Given the description of an element on the screen output the (x, y) to click on. 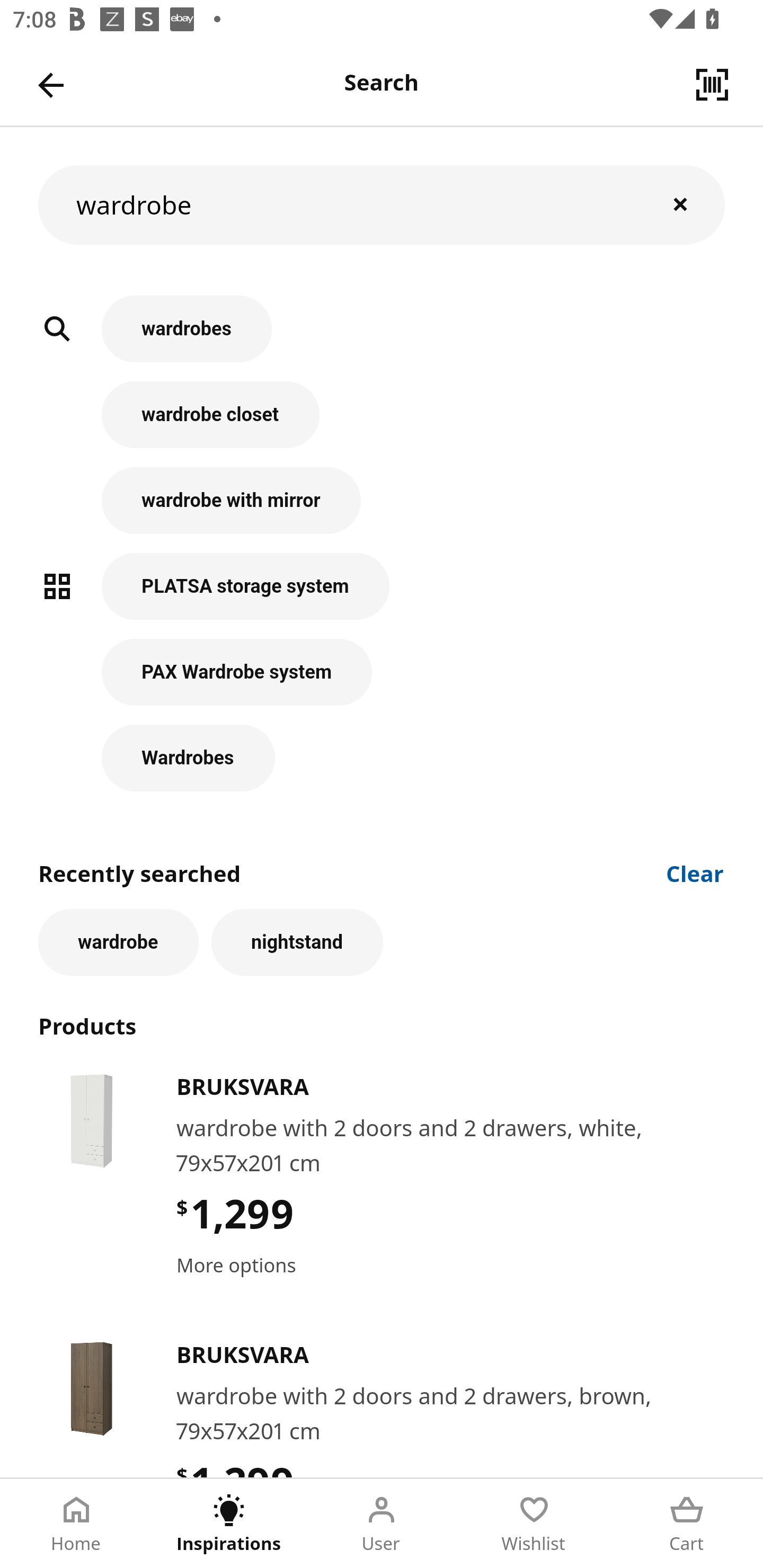
wardrobe (381, 204)
wardrobes (381, 338)
wardrobe closet (381, 424)
wardrobe with mirror (381, 510)
PLATSA storage system (381, 595)
PAX Wardrobe system (381, 681)
Wardrobes (381, 757)
Clear (695, 872)
wardrobe (118, 942)
nightstand (297, 942)
Home
Tab 1 of 5 (76, 1522)
Inspirations
Tab 2 of 5 (228, 1522)
User
Tab 3 of 5 (381, 1522)
Wishlist
Tab 4 of 5 (533, 1522)
Cart
Tab 5 of 5 (686, 1522)
